Given the description of an element on the screen output the (x, y) to click on. 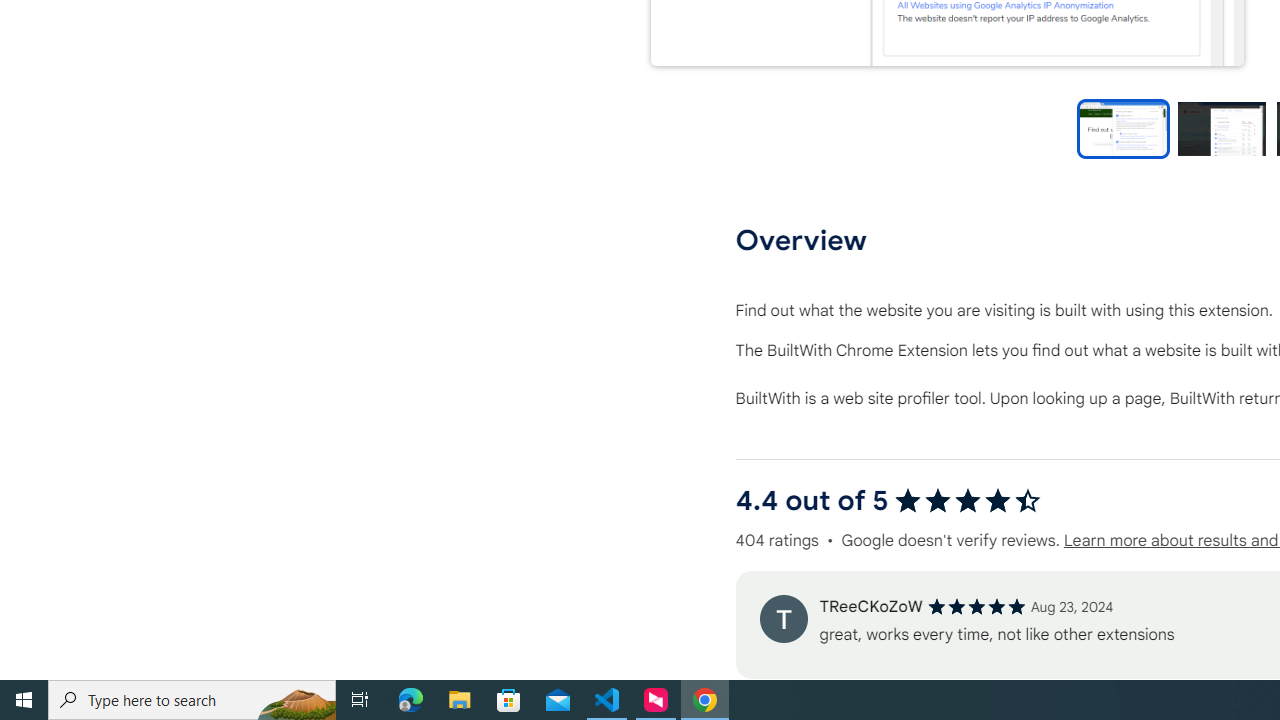
Preview slide 2 (1221, 128)
Preview slide 1 (1123, 128)
4.4 out of 5 stars (967, 500)
Review's profile picture (783, 618)
5 out of 5 stars (975, 606)
